Given the description of an element on the screen output the (x, y) to click on. 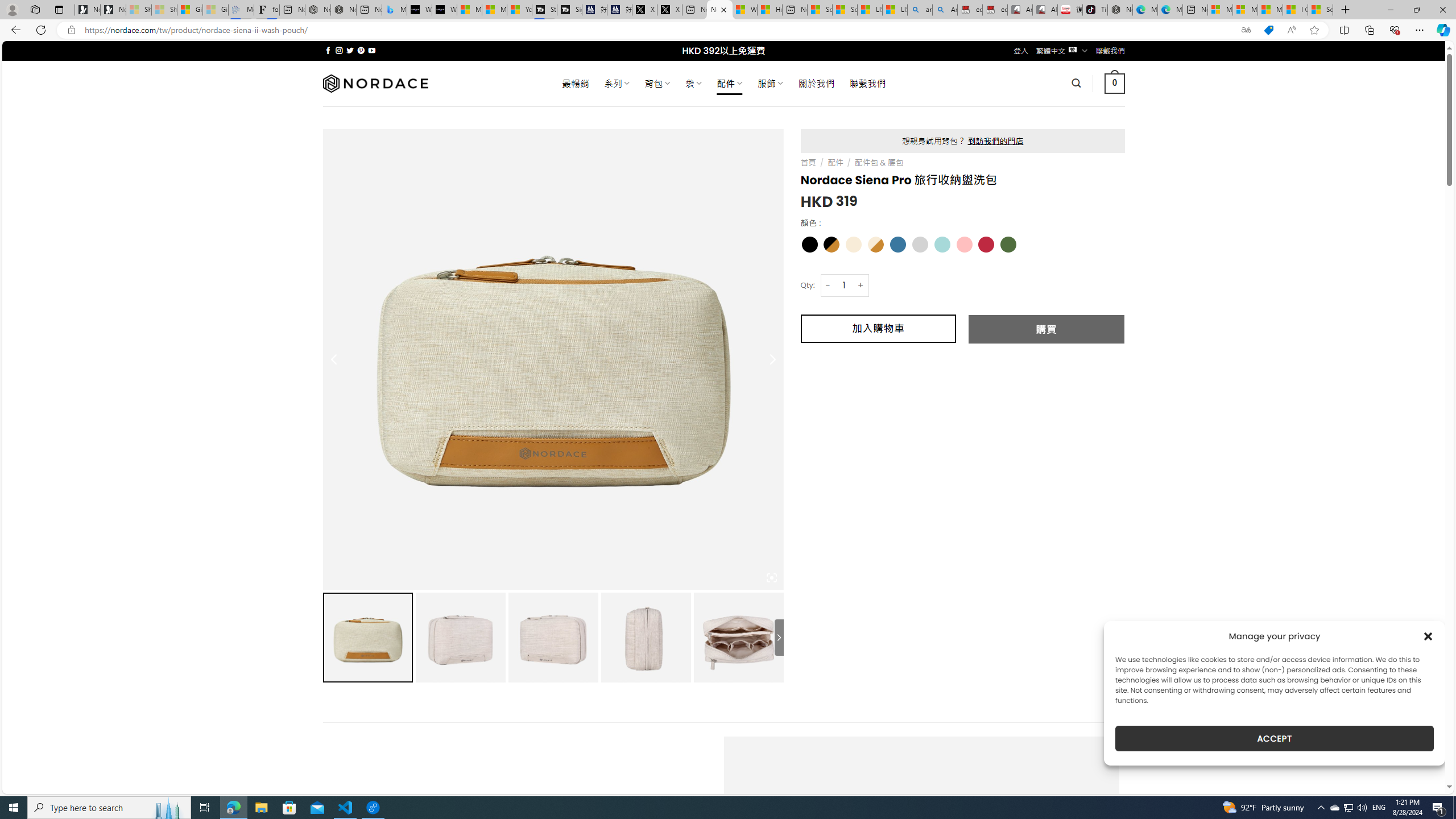
Streaming Coverage | T3 (544, 9)
